Given the description of an element on the screen output the (x, y) to click on. 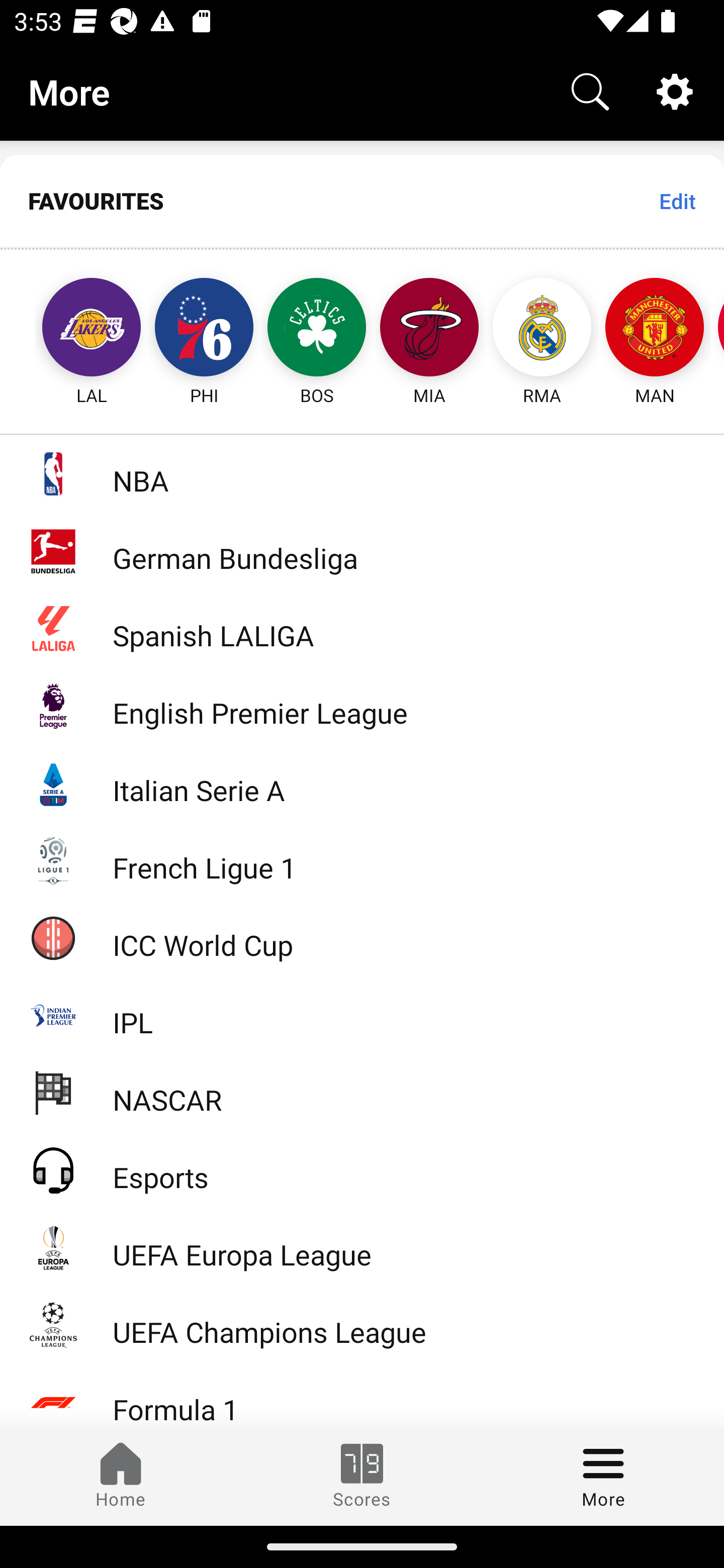
Search (590, 90)
Settings (674, 90)
Edit (676, 200)
LAL Los Angeles Lakers (73, 328)
PHI Philadelphia 76ers (203, 328)
BOS Boston Celtics (316, 328)
MIA Miami Heat (428, 328)
RMA Real Madrid (541, 328)
MAN Manchester United (654, 328)
NBA (362, 473)
German Bundesliga (362, 550)
Spanish LALIGA (362, 627)
English Premier League (362, 705)
Italian Serie A (362, 782)
French Ligue 1 (362, 859)
ICC World Cup (362, 937)
IPL (362, 1014)
NASCAR (362, 1091)
Esports (362, 1169)
UEFA Europa League (362, 1246)
UEFA Champions League (362, 1324)
Home (120, 1475)
Scores (361, 1475)
